Given the description of an element on the screen output the (x, y) to click on. 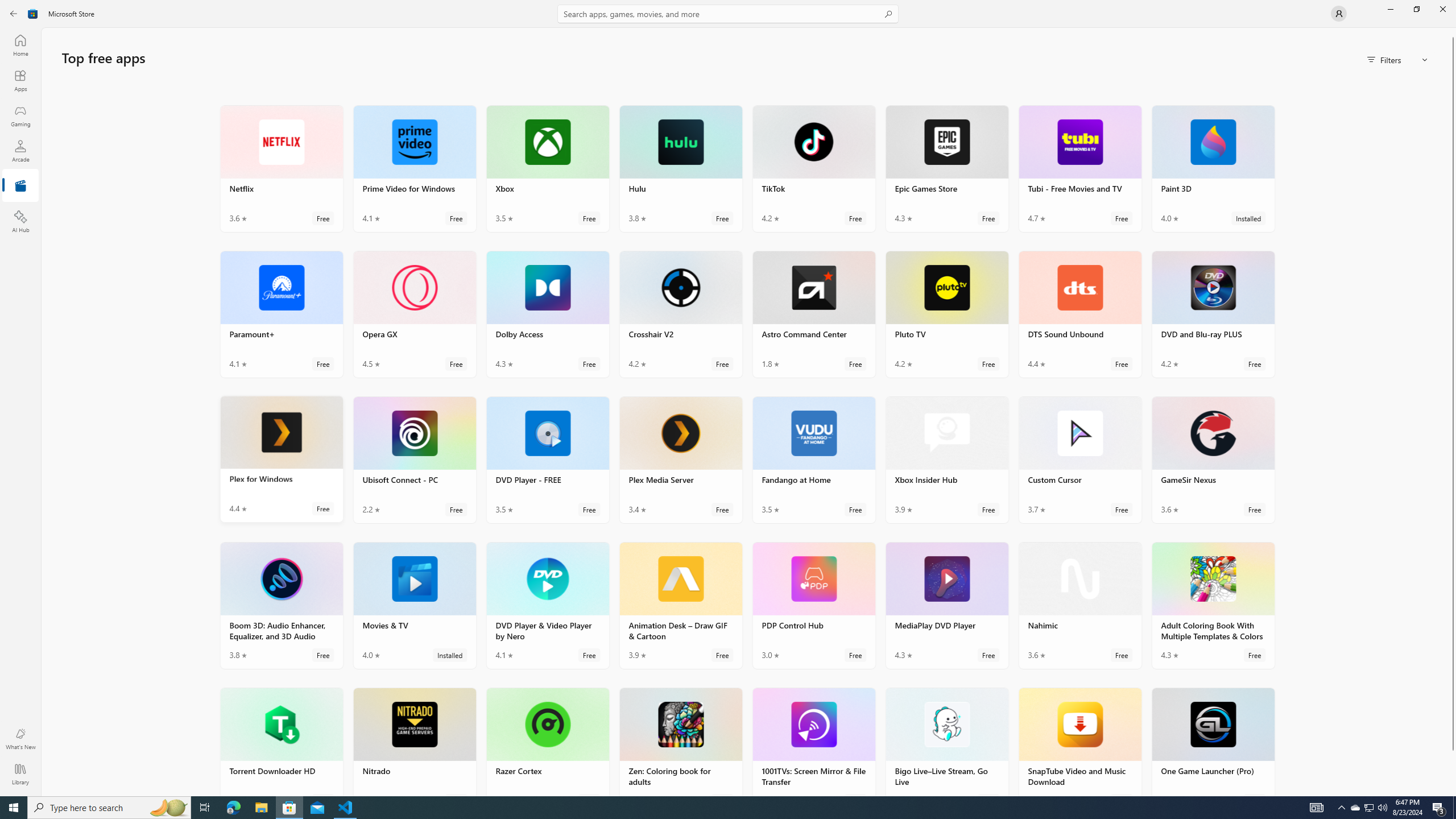
What's New (20, 738)
Arcade (20, 150)
AutomationID: NavigationControl (728, 398)
Search (727, 13)
Vertical Small Increase (1452, 792)
Back (13, 13)
Close Microsoft Store (1442, 9)
Hulu. Average rating of 3.8 out of five stars. Free   (680, 167)
Vertical Large Increase (1452, 619)
